Given the description of an element on the screen output the (x, y) to click on. 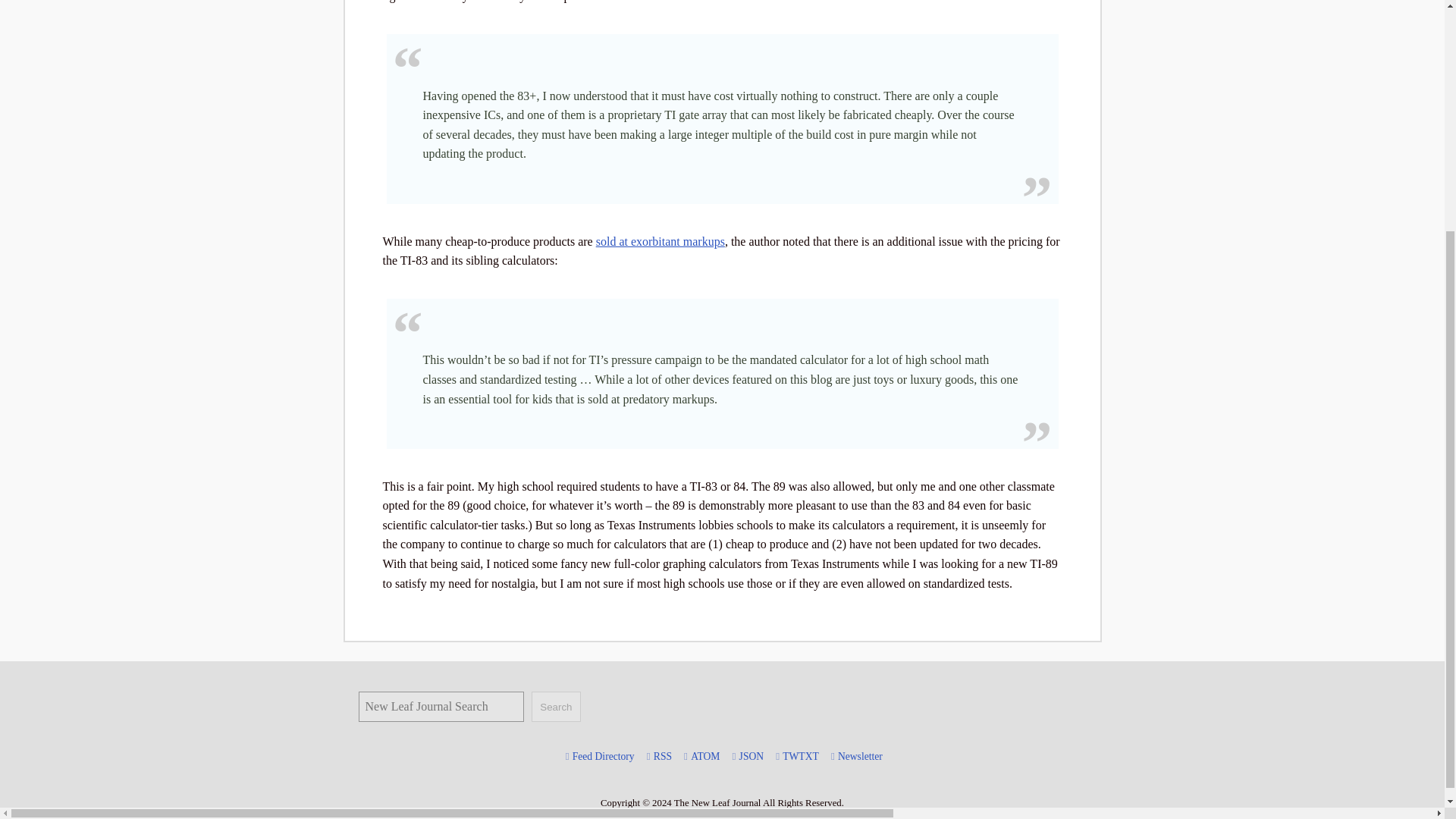
Search (555, 706)
JSON (751, 756)
TWTXT (800, 756)
ATOM (704, 756)
Feed Directory (603, 756)
sold at exorbitant markups (660, 241)
Newsletter (859, 756)
RSS (662, 756)
